Given the description of an element on the screen output the (x, y) to click on. 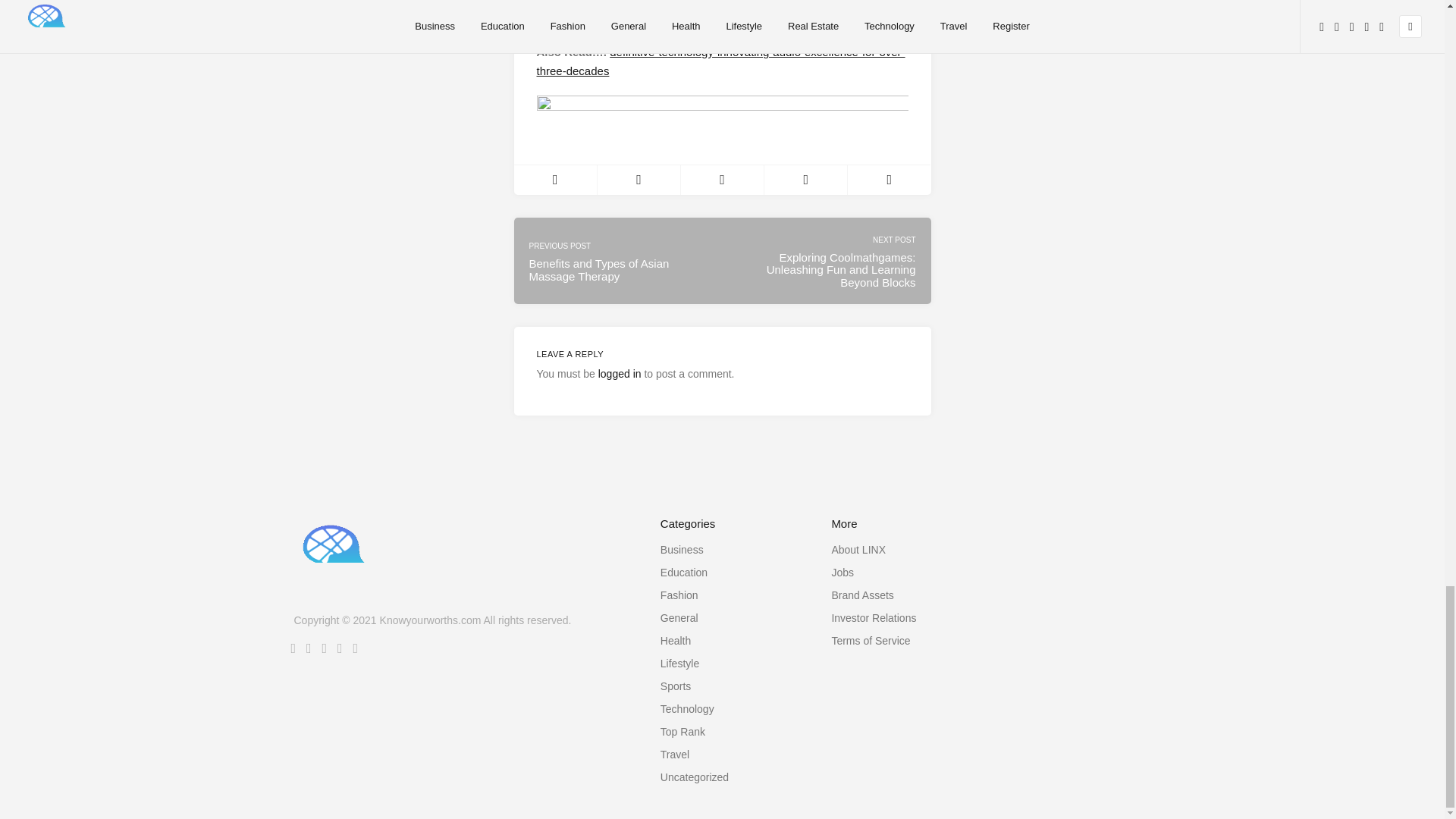
logged in (620, 373)
